Given the description of an element on the screen output the (x, y) to click on. 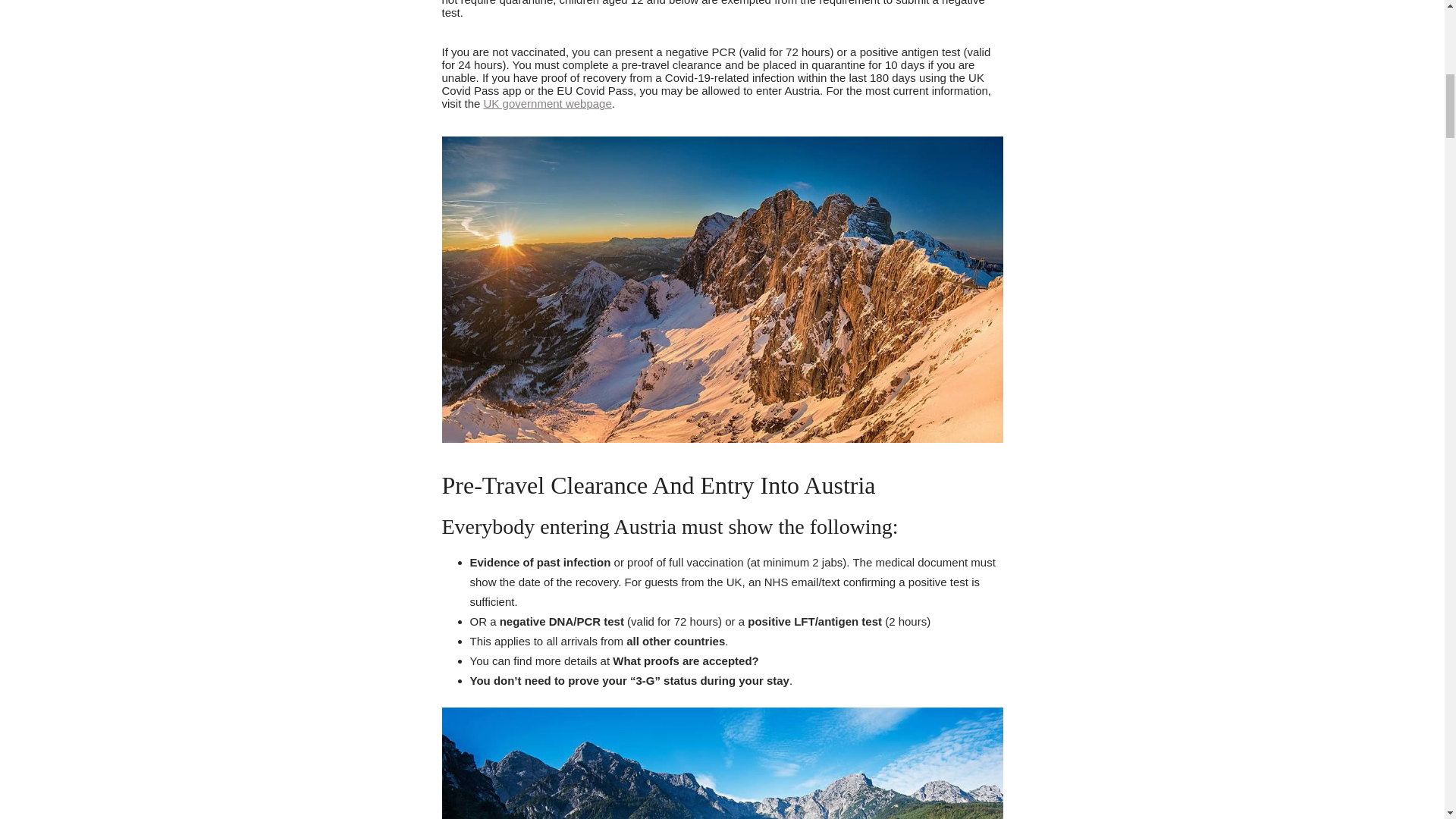
UK government webpage (547, 103)
